Given the description of an element on the screen output the (x, y) to click on. 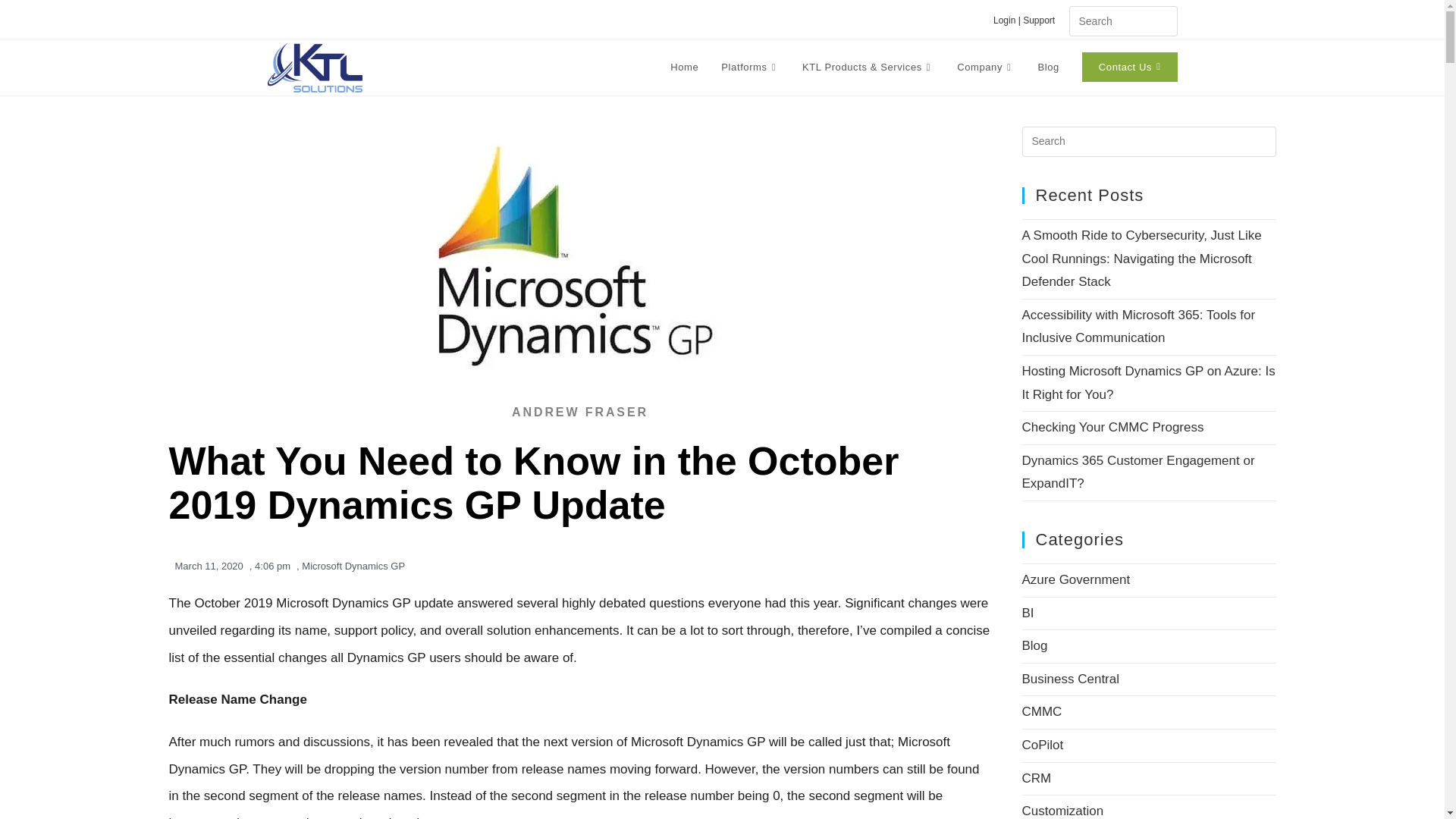
Platforms (750, 67)
Contact Us (1129, 67)
Company (985, 67)
Support (1044, 20)
Home (684, 67)
Login (1003, 20)
